Given the description of an element on the screen output the (x, y) to click on. 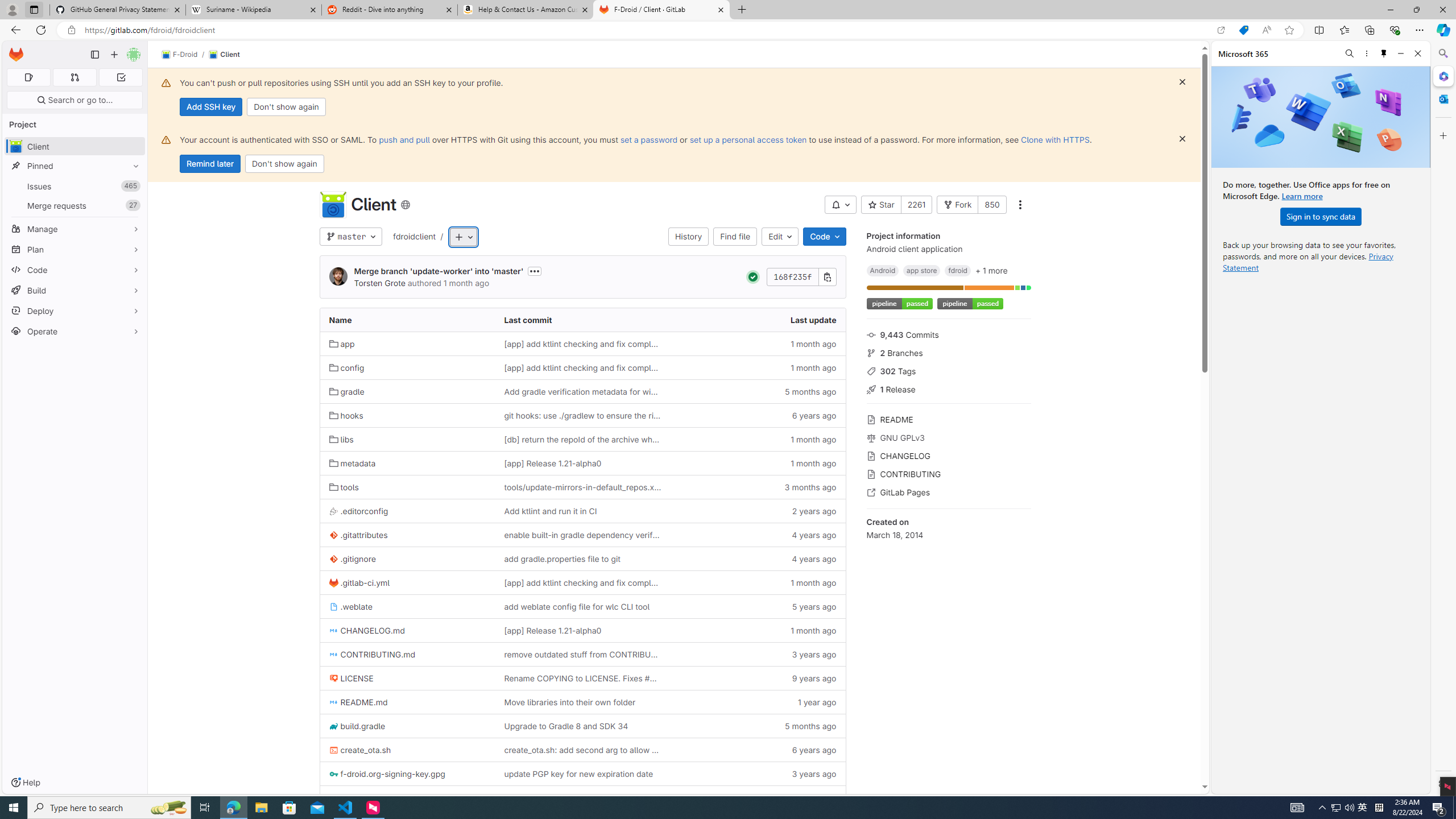
.editorconfig (358, 511)
Dismiss (1181, 138)
f-droid.org-signing-key.gpg (407, 773)
add weblate config file for wlc CLI tool (583, 606)
hooks (346, 415)
Sign in to sync data (1320, 216)
CONTRIBUTING.md (407, 654)
Class: s16 gl-alert-icon gl-alert-icon-no-title (165, 139)
4 years ago (757, 558)
Project badge (969, 303)
Learn more about Microsoft Office. (1302, 195)
